Given the description of an element on the screen output the (x, y) to click on. 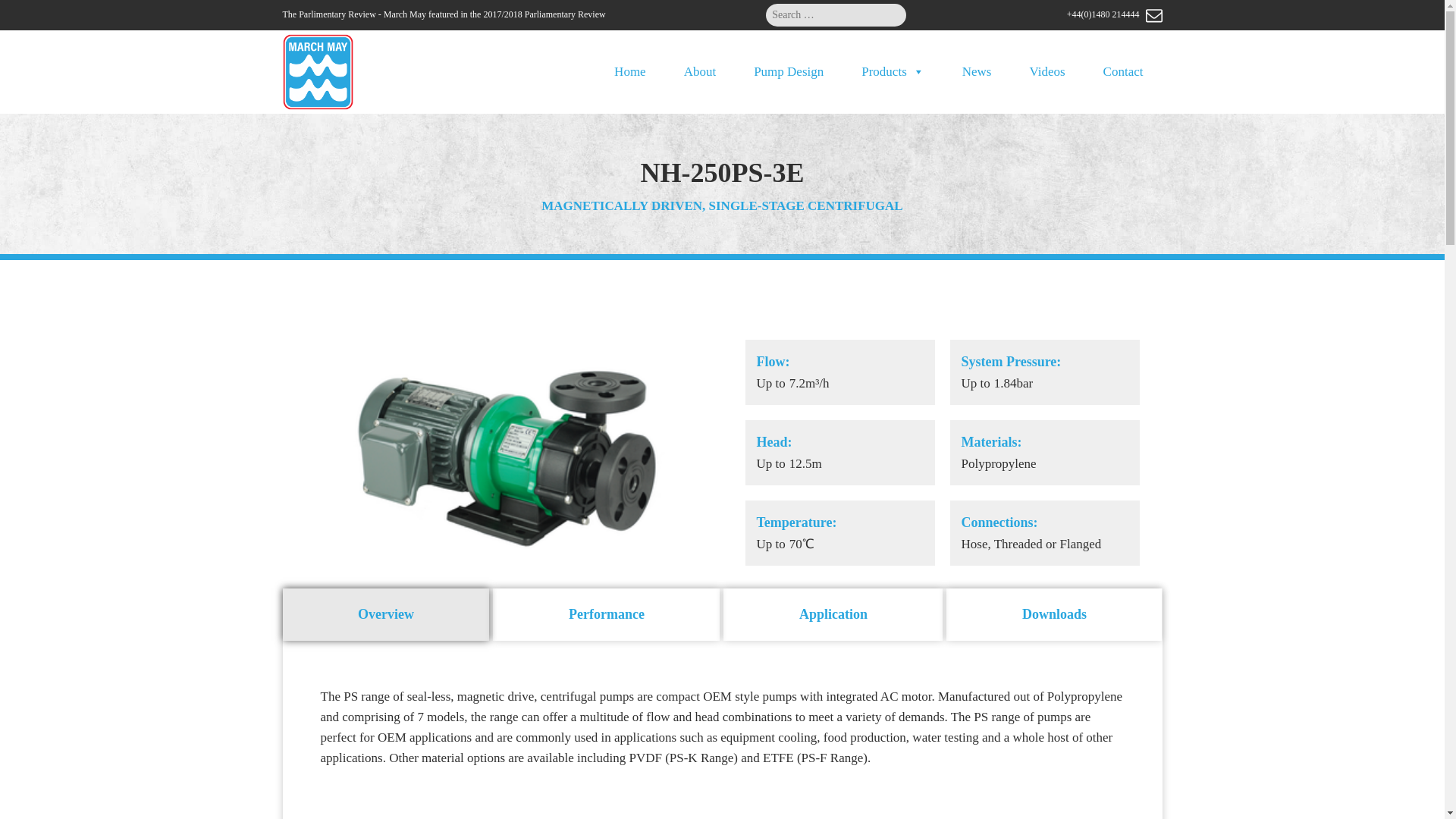
About (700, 71)
Pump Design (789, 71)
Search (24, 14)
Products (893, 71)
Home (630, 71)
